Given the description of an element on the screen output the (x, y) to click on. 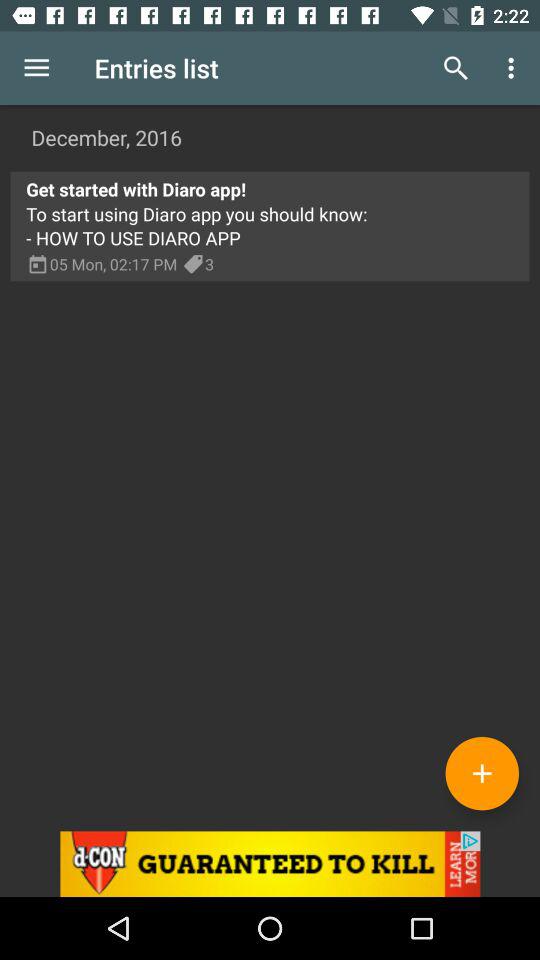
add button (482, 773)
